Given the description of an element on the screen output the (x, y) to click on. 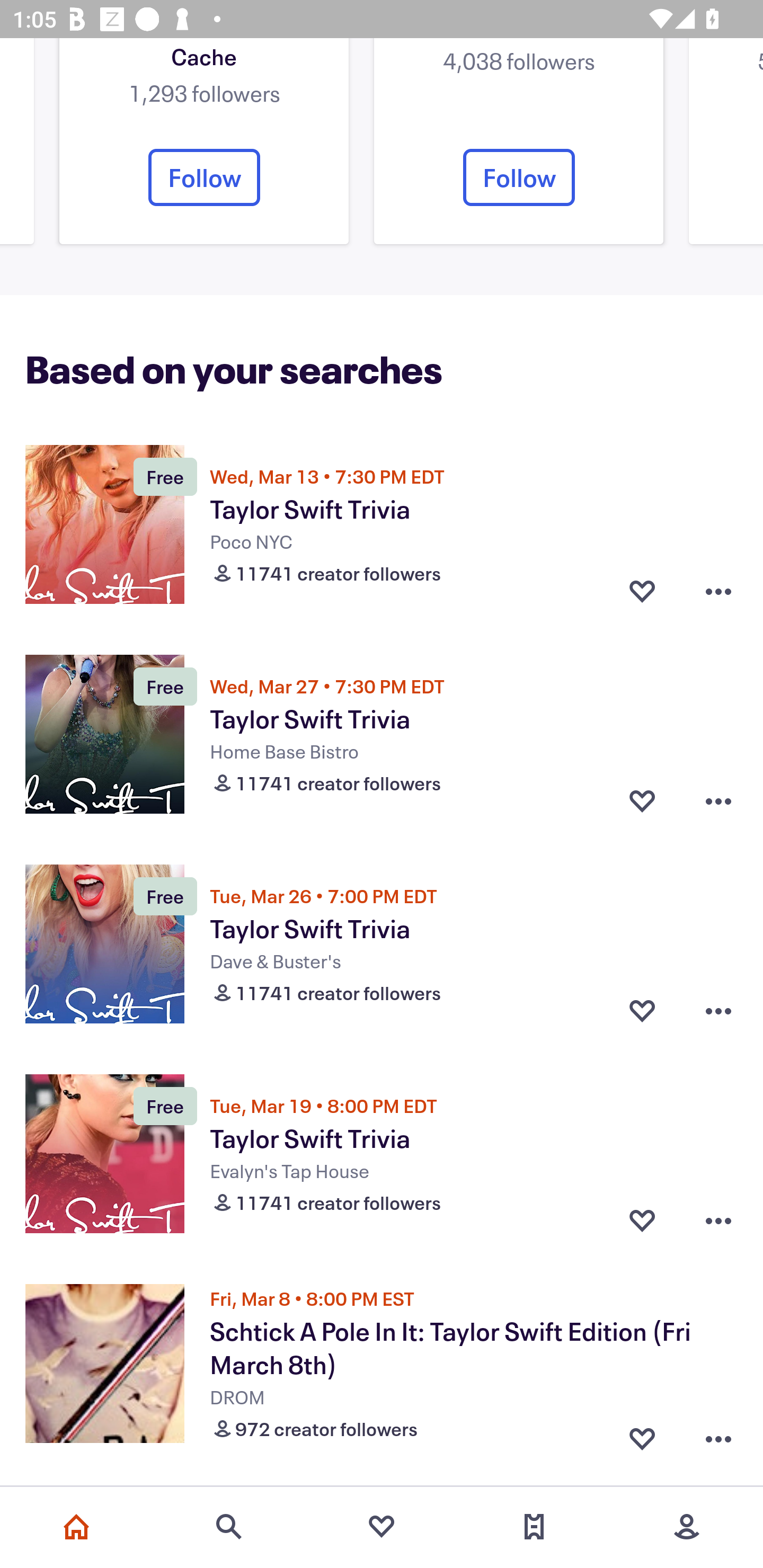
Follow Organizer's follow button (204, 176)
Follow Organizer's follow button (518, 176)
Favorite button (642, 590)
Overflow menu button (718, 590)
Favorite button (642, 800)
Overflow menu button (718, 800)
Favorite button (642, 1010)
Overflow menu button (718, 1010)
Favorite button (642, 1220)
Overflow menu button (718, 1220)
Favorite button (642, 1434)
Overflow menu button (718, 1434)
Home (76, 1526)
Search events (228, 1526)
Favorites (381, 1526)
Tickets (533, 1526)
More (686, 1526)
